Given the description of an element on the screen output the (x, y) to click on. 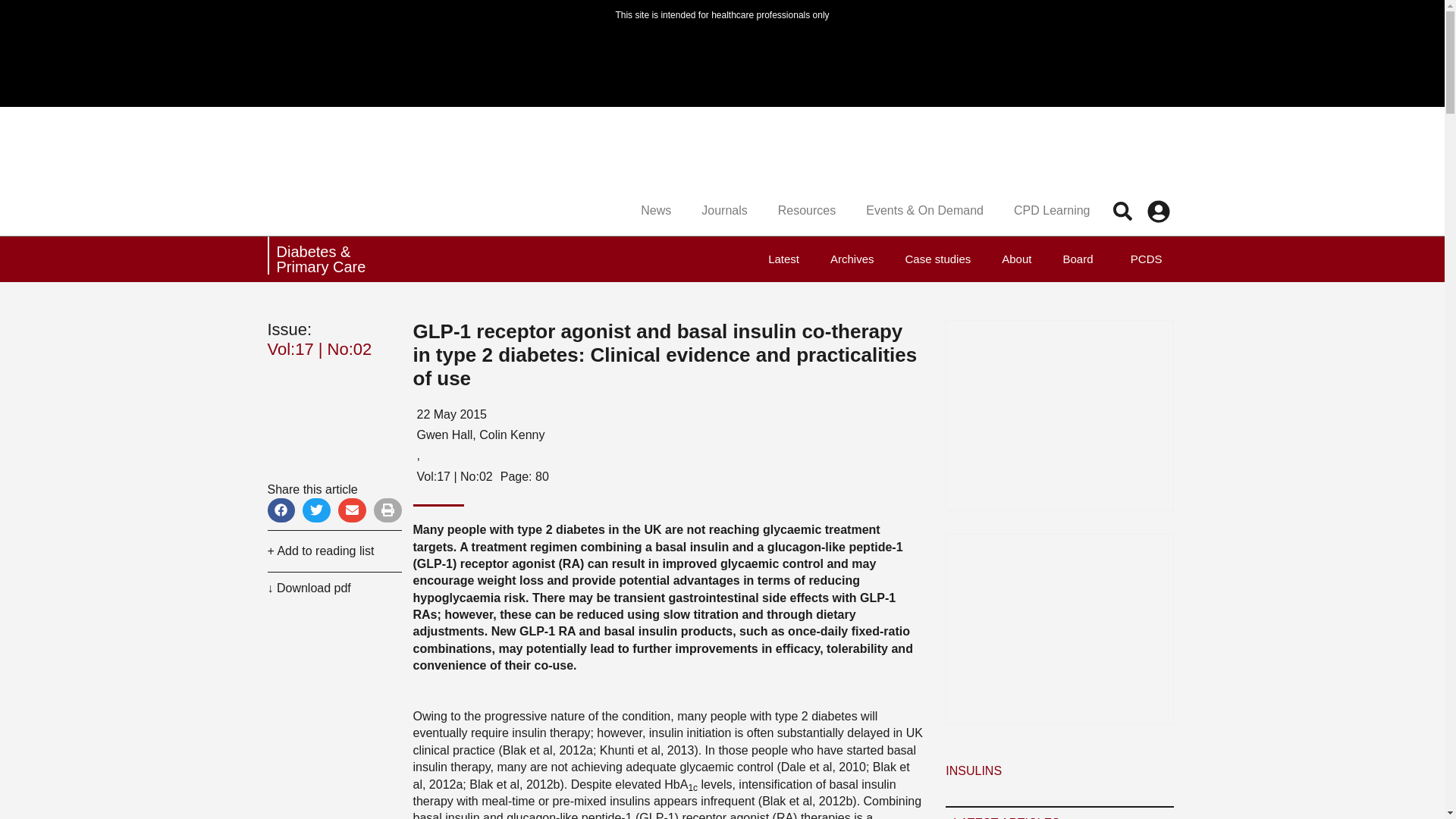
Resources (806, 210)
Latest (782, 258)
Board (1077, 258)
  PCDS (1142, 258)
Case studies (938, 258)
News (655, 210)
Journals (723, 210)
About (1016, 258)
Archives (852, 258)
CPD Learning (1051, 210)
